Given the description of an element on the screen output the (x, y) to click on. 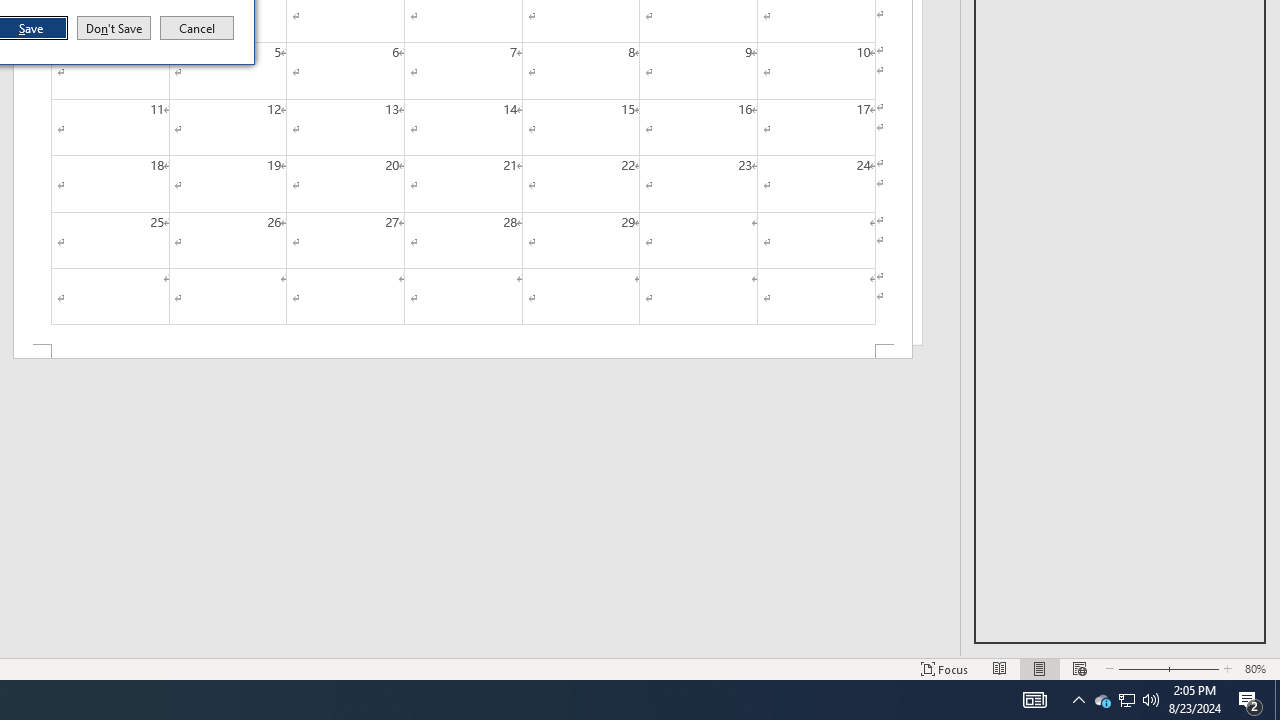
Cancel (197, 27)
Don't Save (113, 27)
